Given the description of an element on the screen output the (x, y) to click on. 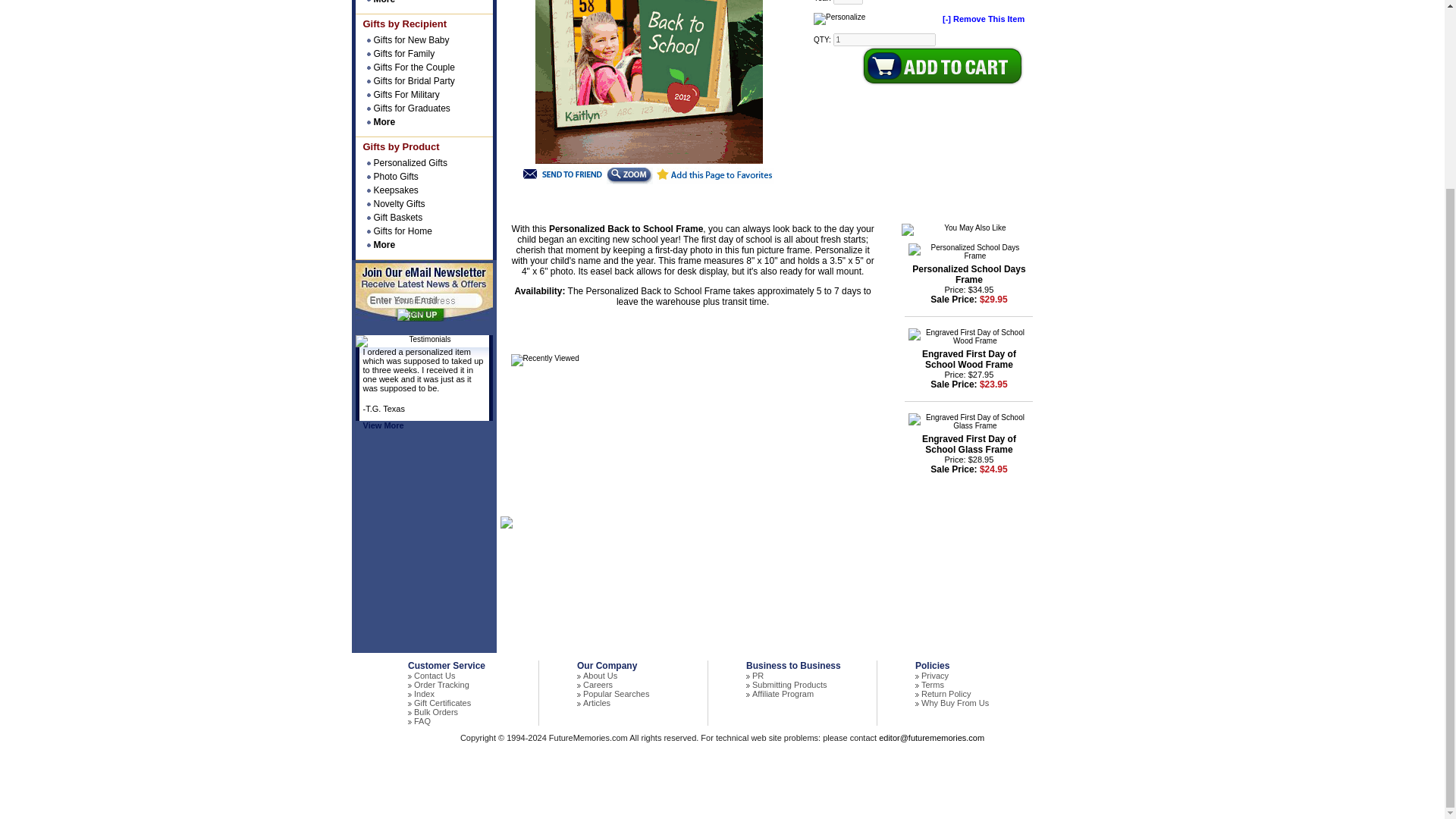
Personalized School Days Frame (968, 274)
Enter Your Email (422, 300)
Engraved First Day of School Wood Frame (968, 359)
Submit (414, 314)
Personalized Back to School Frame (629, 175)
vw-inscription-59656172 (847, 2)
1 (884, 39)
Engraved First Day of School Glass Frame (968, 444)
